Given the description of an element on the screen output the (x, y) to click on. 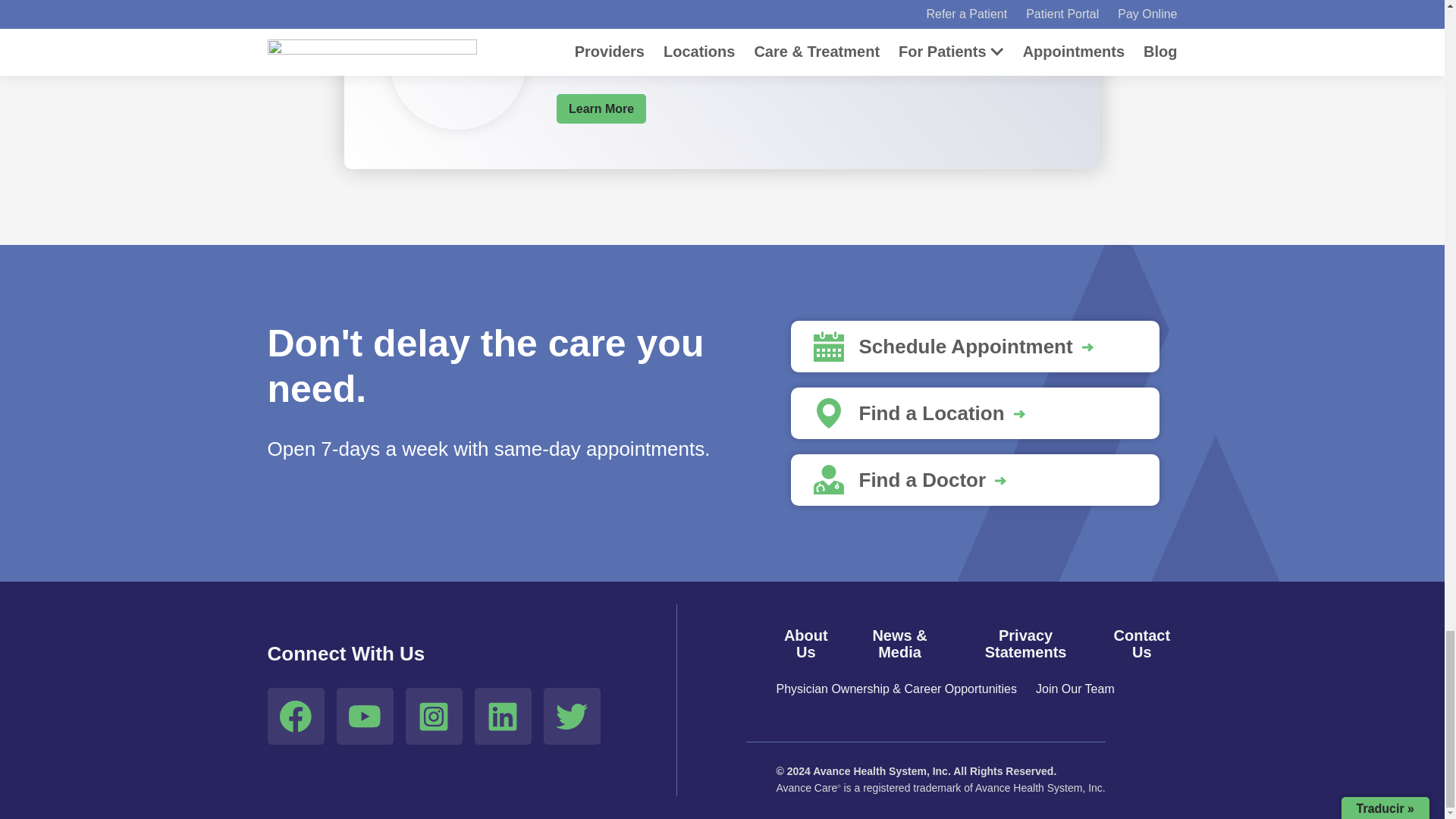
Find a Doctor (974, 480)
Find a Location (974, 412)
Learn More (601, 108)
Schedule Appointment (974, 346)
